Given the description of an element on the screen output the (x, y) to click on. 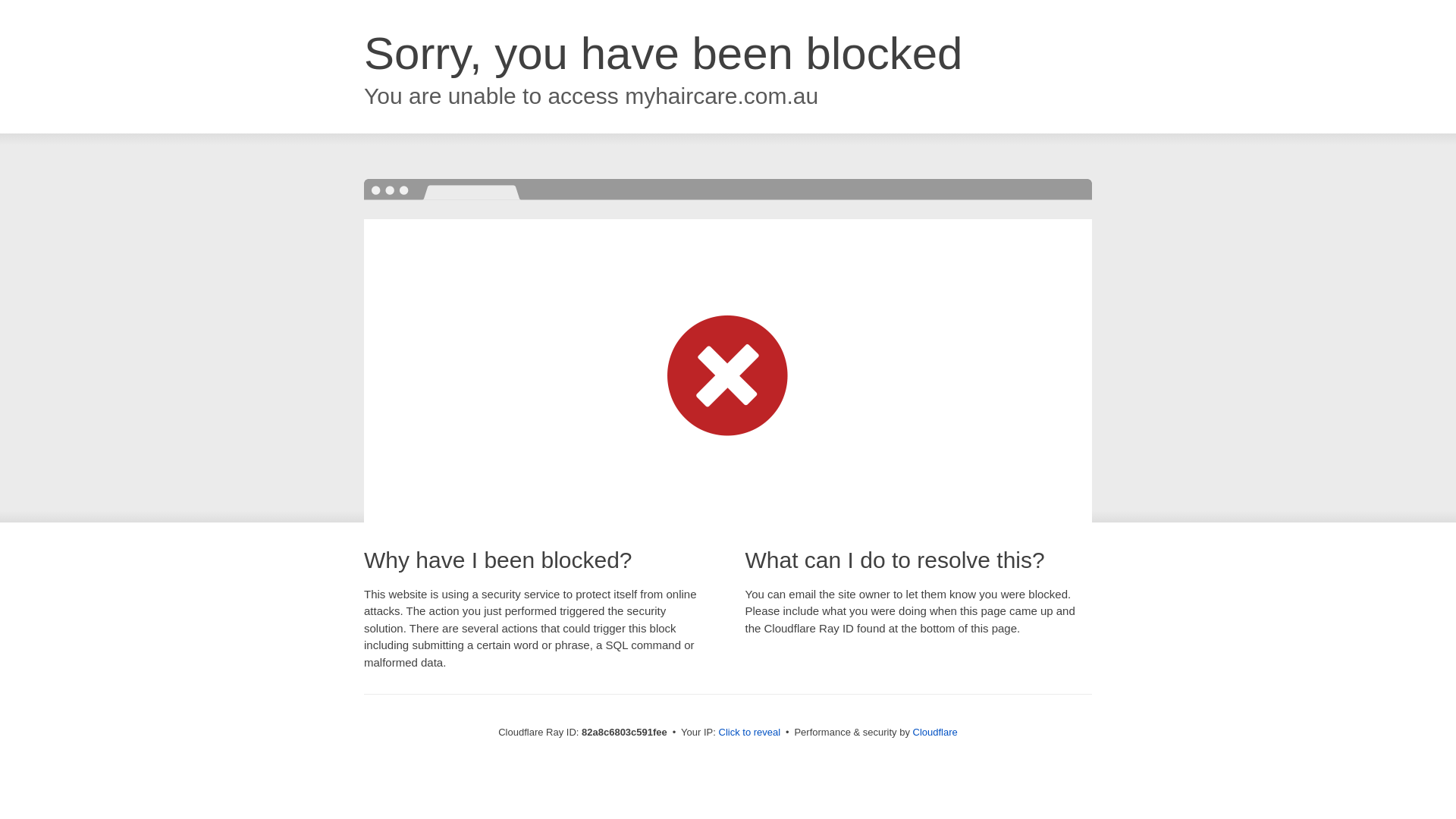
Cloudflare Element type: text (935, 731)
Click to reveal Element type: text (749, 732)
